Given the description of an element on the screen output the (x, y) to click on. 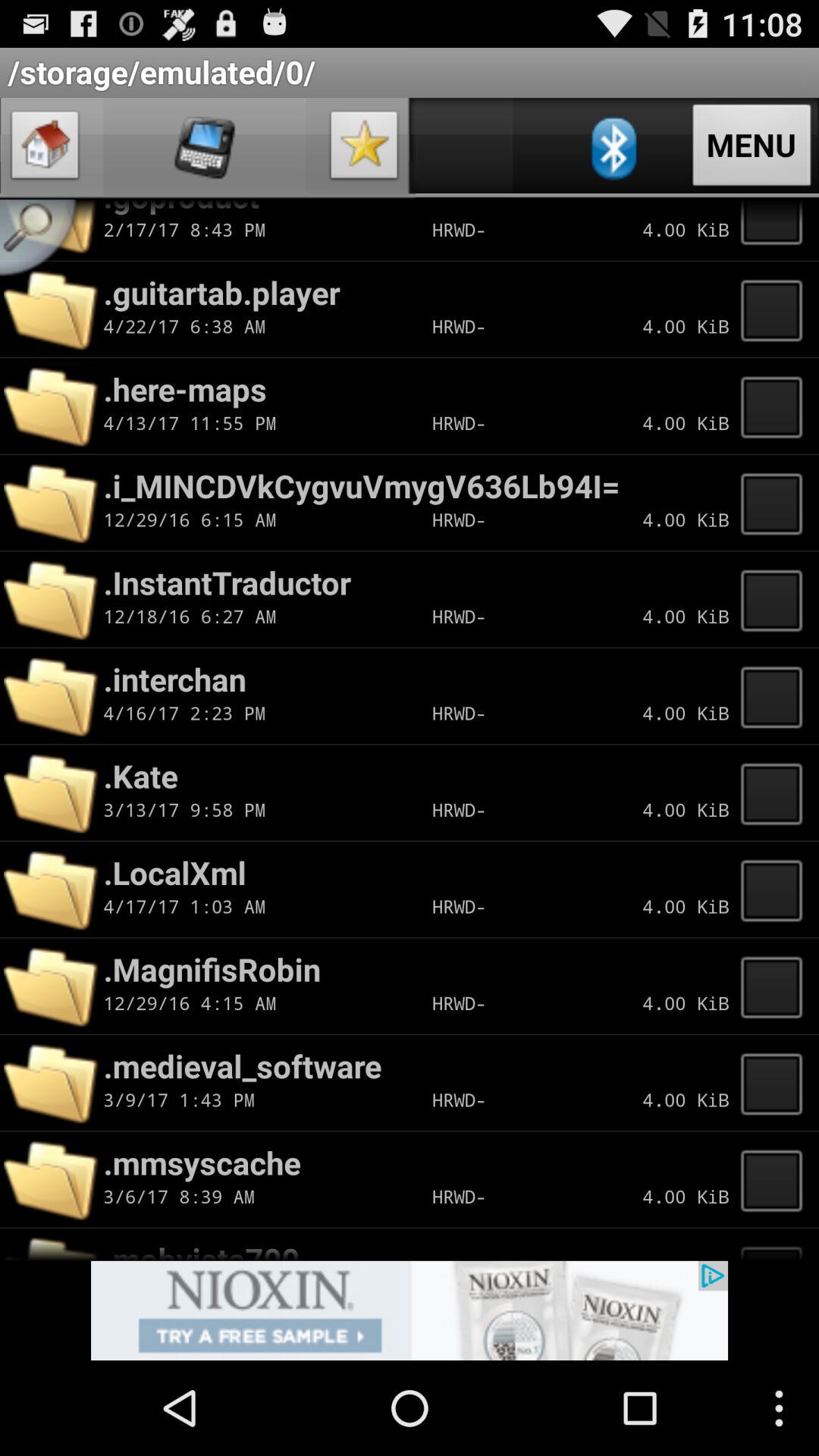
new tap page (776, 1082)
